Given the description of an element on the screen output the (x, y) to click on. 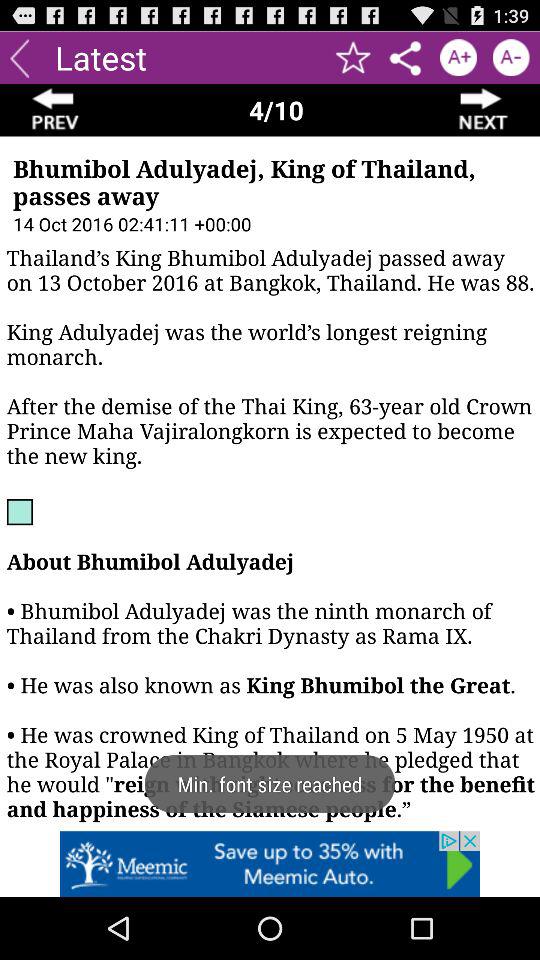
go back (55, 110)
